Given the description of an element on the screen output the (x, y) to click on. 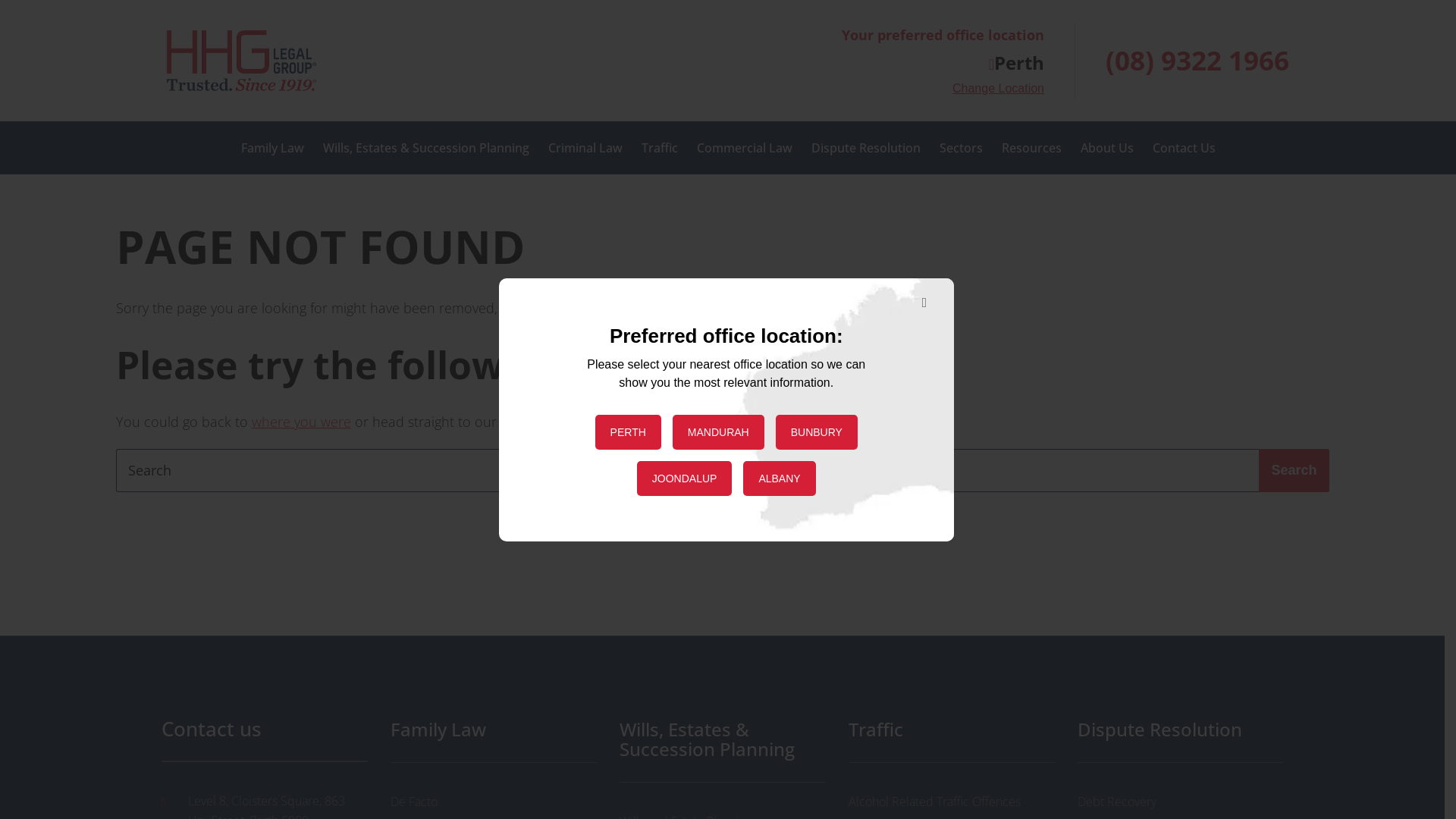
Dispute Resolution Element type: text (1179, 729)
De Facto Element type: text (492, 801)
Change Location Element type: text (998, 88)
Family Law Element type: text (272, 147)
Dispute Resolution Element type: text (865, 147)
Sectors Element type: text (960, 147)
Traffic Element type: text (950, 729)
Criminal Law Element type: text (584, 147)
Wills, Estates & Succession Planning Element type: text (721, 739)
BUNBURY Element type: text (816, 431)
(08) 9322 1966 Element type: text (1197, 60)
Close Element type: hover (921, 302)
Resources Element type: text (1030, 147)
Wills, Estates & Succession Planning Element type: text (425, 147)
JOONDALUP Element type: text (684, 478)
where you were Element type: text (301, 421)
Contact Us Element type: text (1184, 147)
Debt Recovery Element type: text (1179, 801)
Search Element type: text (1293, 470)
PERTH Element type: text (628, 431)
Alcohol Related Traffic Offences Element type: text (950, 801)
Commercial Law Element type: text (743, 147)
Family Law Element type: text (492, 729)
MANDURAH Element type: text (718, 431)
home page Element type: text (535, 421)
ALBANY Element type: text (779, 478)
About Us Element type: text (1106, 147)
Traffic Element type: text (659, 147)
